Given the description of an element on the screen output the (x, y) to click on. 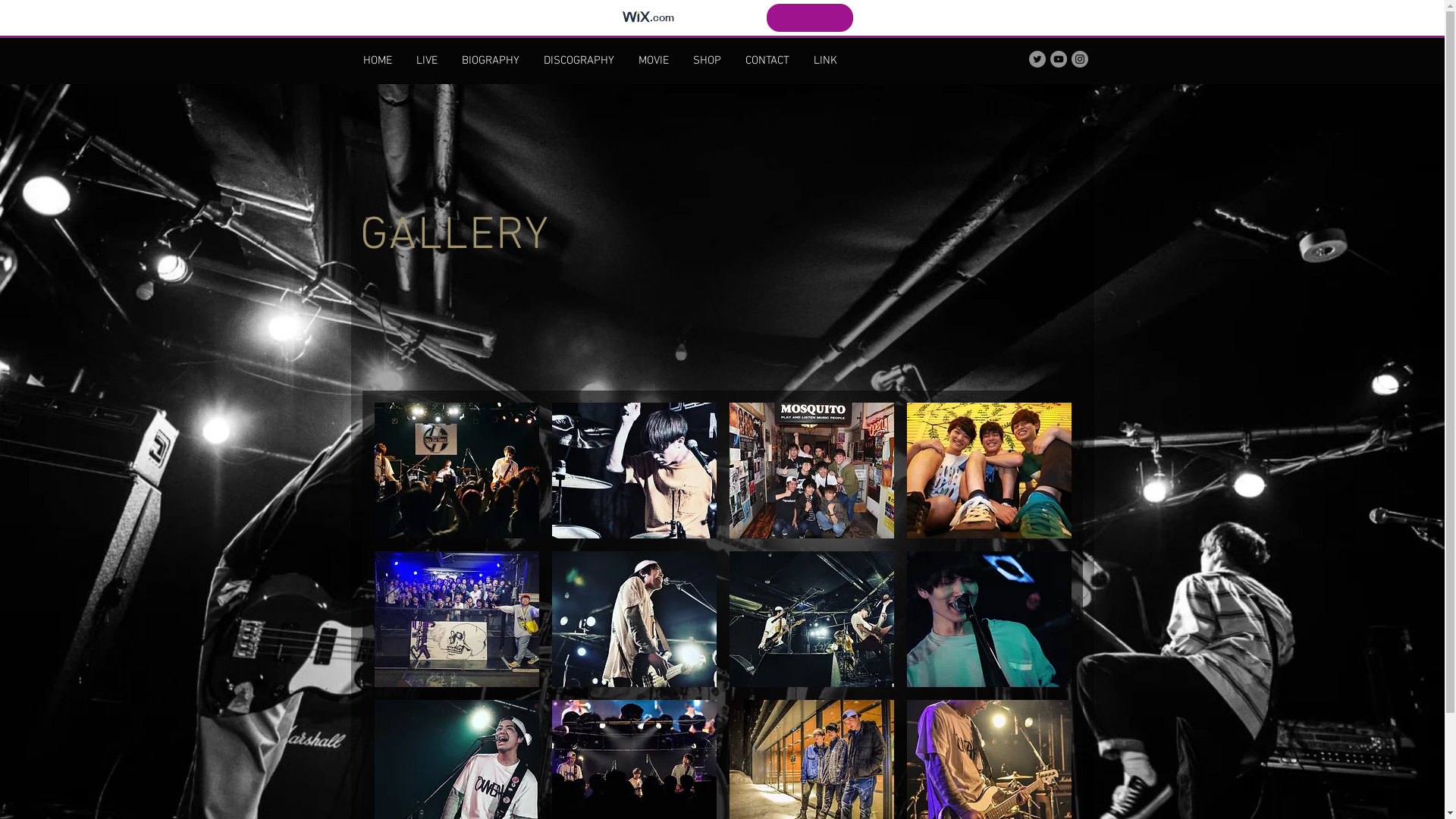
BIOGRAPHY Element type: text (489, 60)
LIVE Element type: text (425, 60)
HOME Element type: text (376, 60)
CONTACT Element type: text (766, 60)
DISCOGRAPHY Element type: text (577, 60)
LINK Element type: text (824, 60)
SHOP Element type: text (706, 60)
MOVIE Element type: text (653, 60)
